Given the description of an element on the screen output the (x, y) to click on. 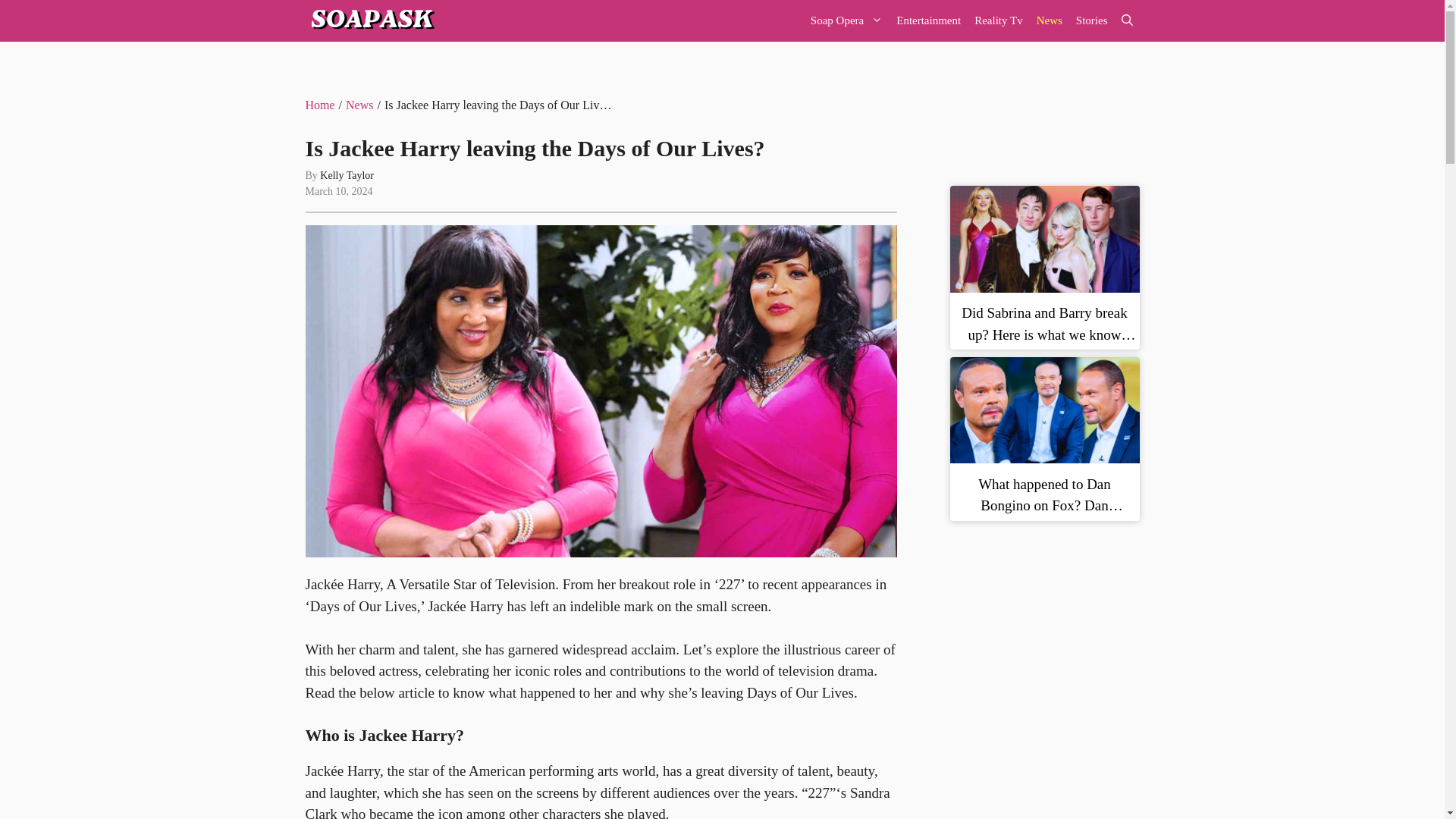
View all posts by Kelly Taylor (347, 174)
SoapAsk (370, 20)
Soap Opera (846, 20)
